Given the description of an element on the screen output the (x, y) to click on. 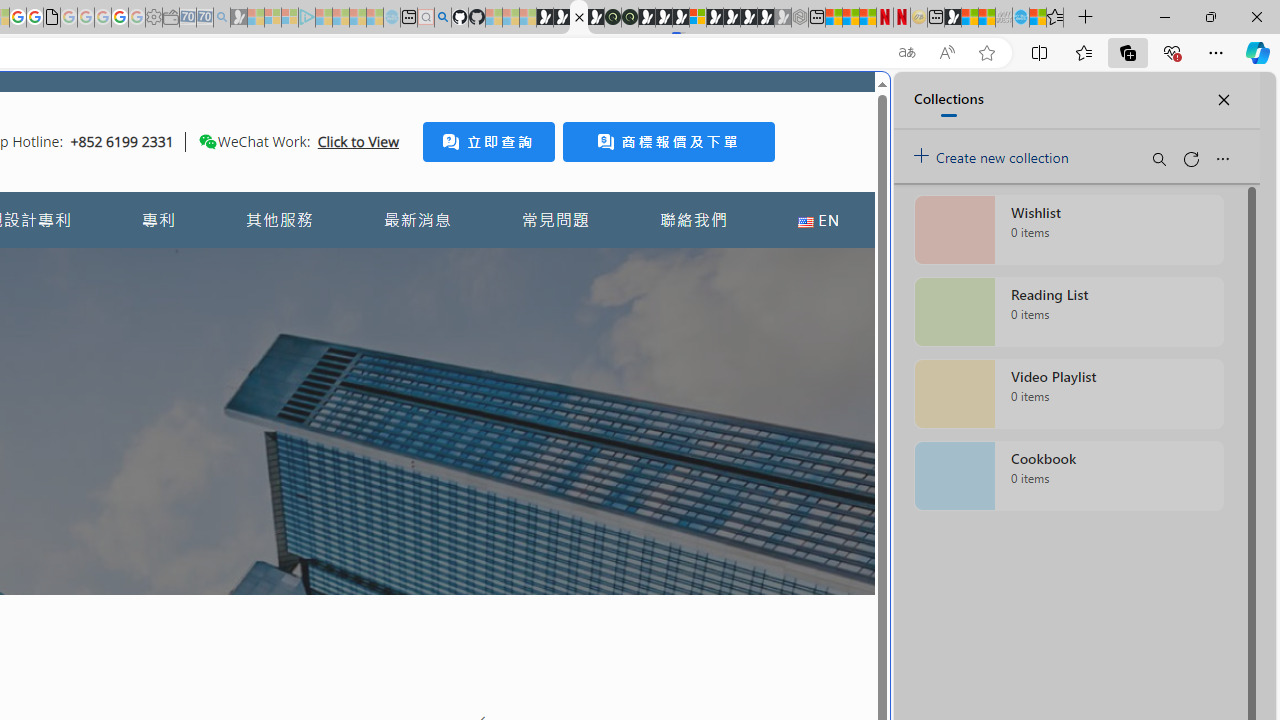
Tabs you've opened (276, 265)
EN (818, 220)
Play Cave FRVR in your browser | Games from Microsoft Start (343, 426)
